Given the description of an element on the screen output the (x, y) to click on. 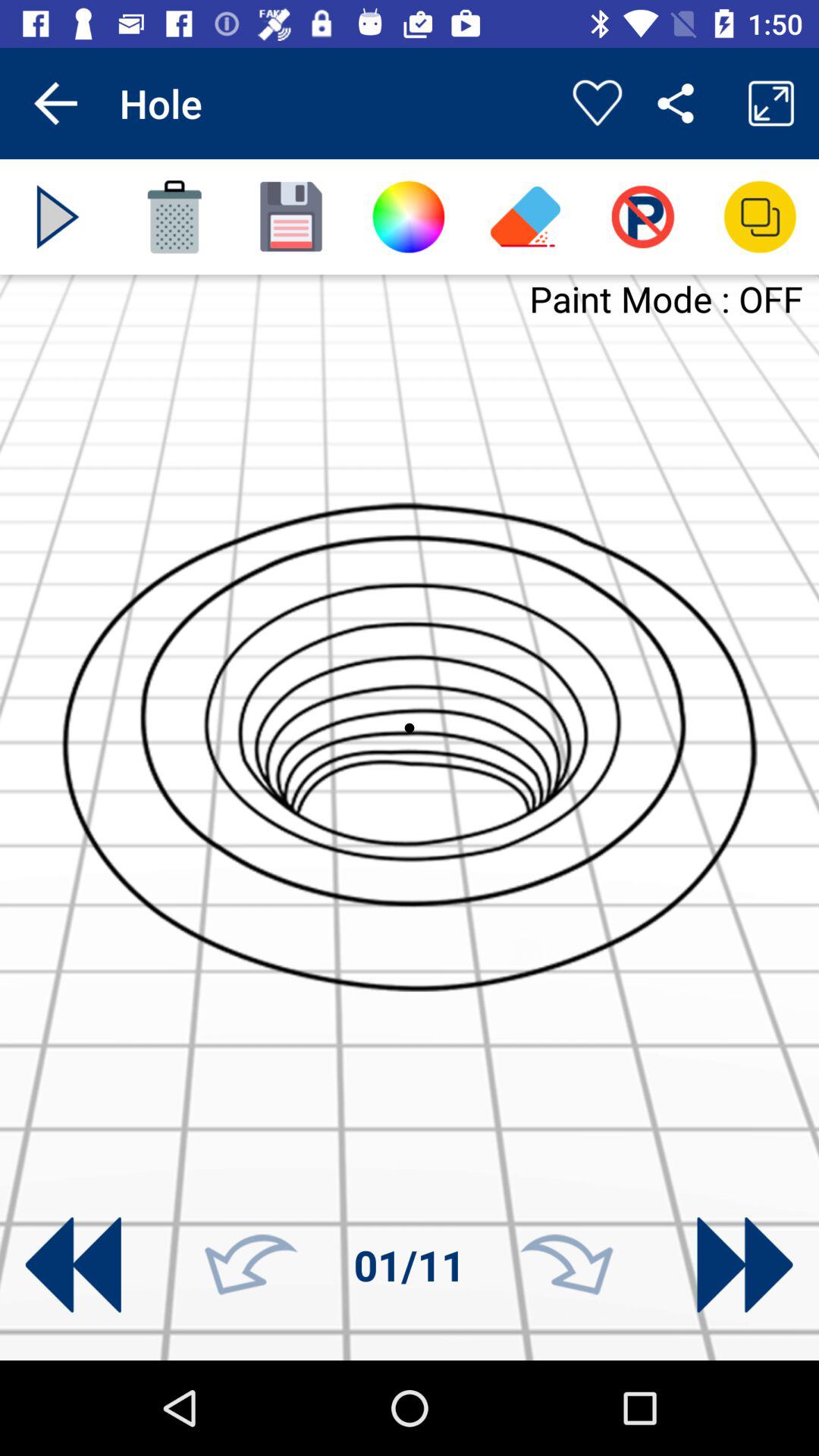
going to other picture (73, 1264)
